Given the description of an element on the screen output the (x, y) to click on. 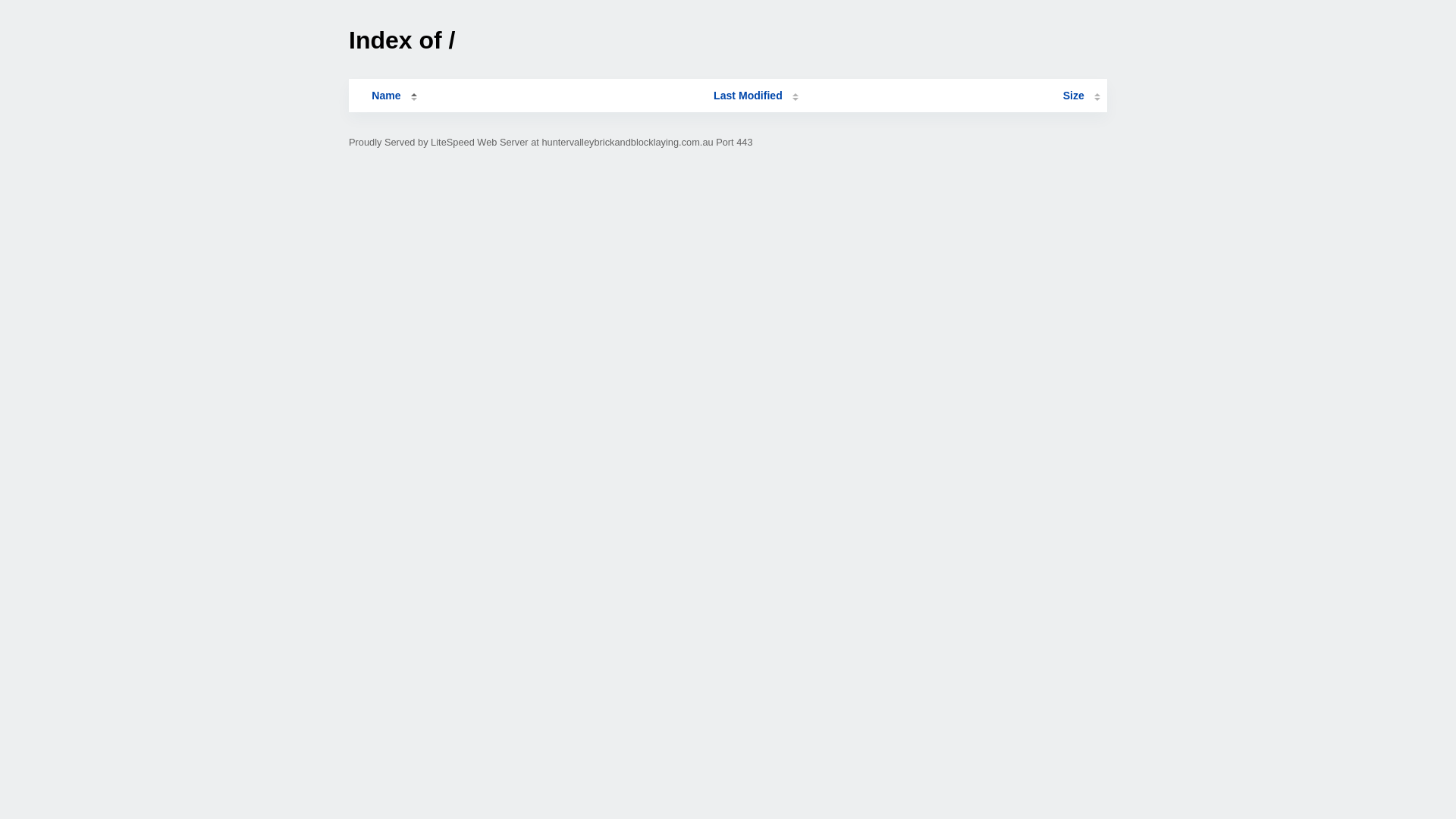
Last Modified Element type: text (755, 95)
Size Element type: text (1081, 95)
Name Element type: text (385, 95)
